Given the description of an element on the screen output the (x, y) to click on. 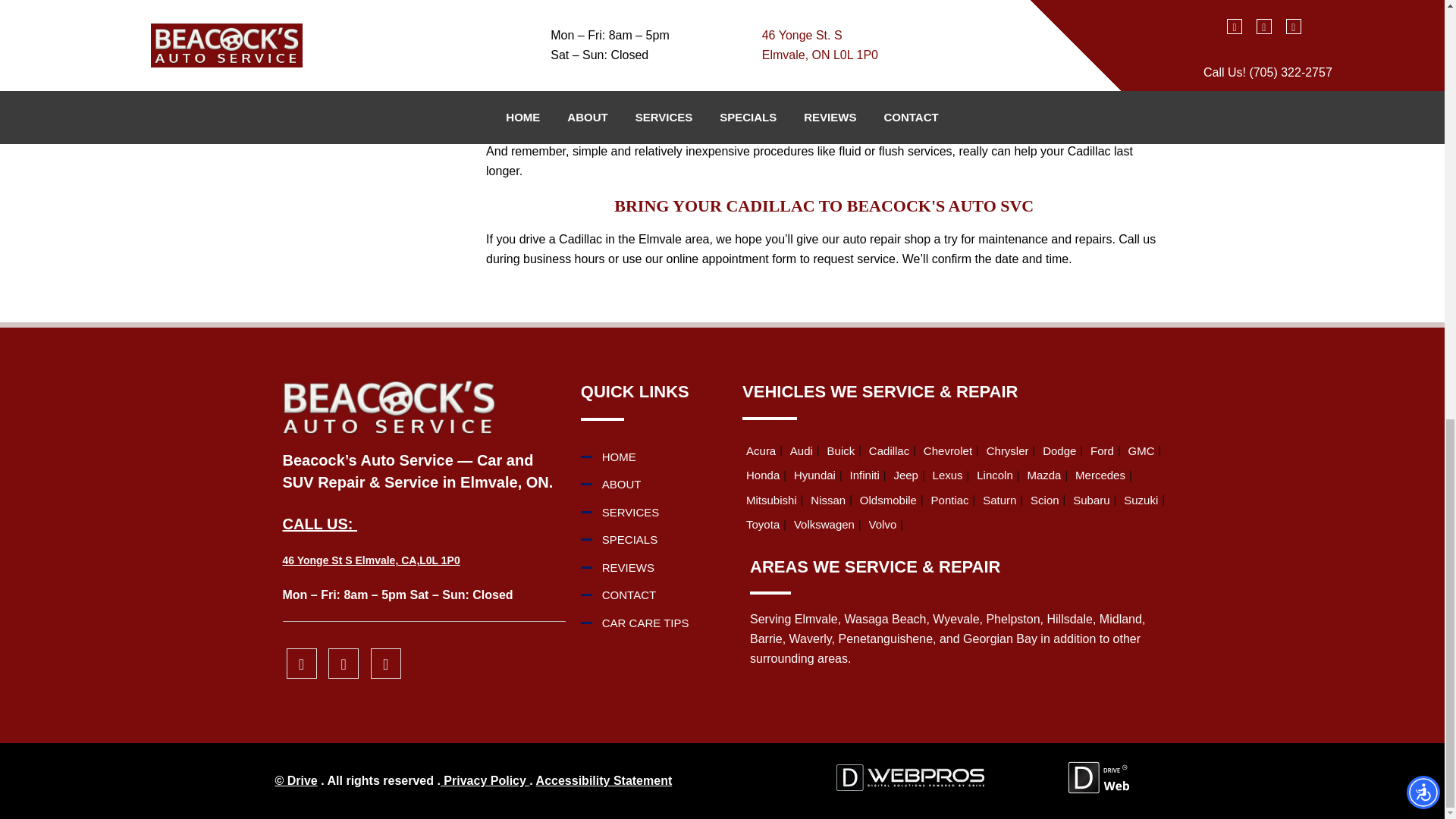
46 Yonge St S Elmvale, CA,L0L 1P0 (371, 560)
CALL US: (319, 523)
